Given the description of an element on the screen output the (x, y) to click on. 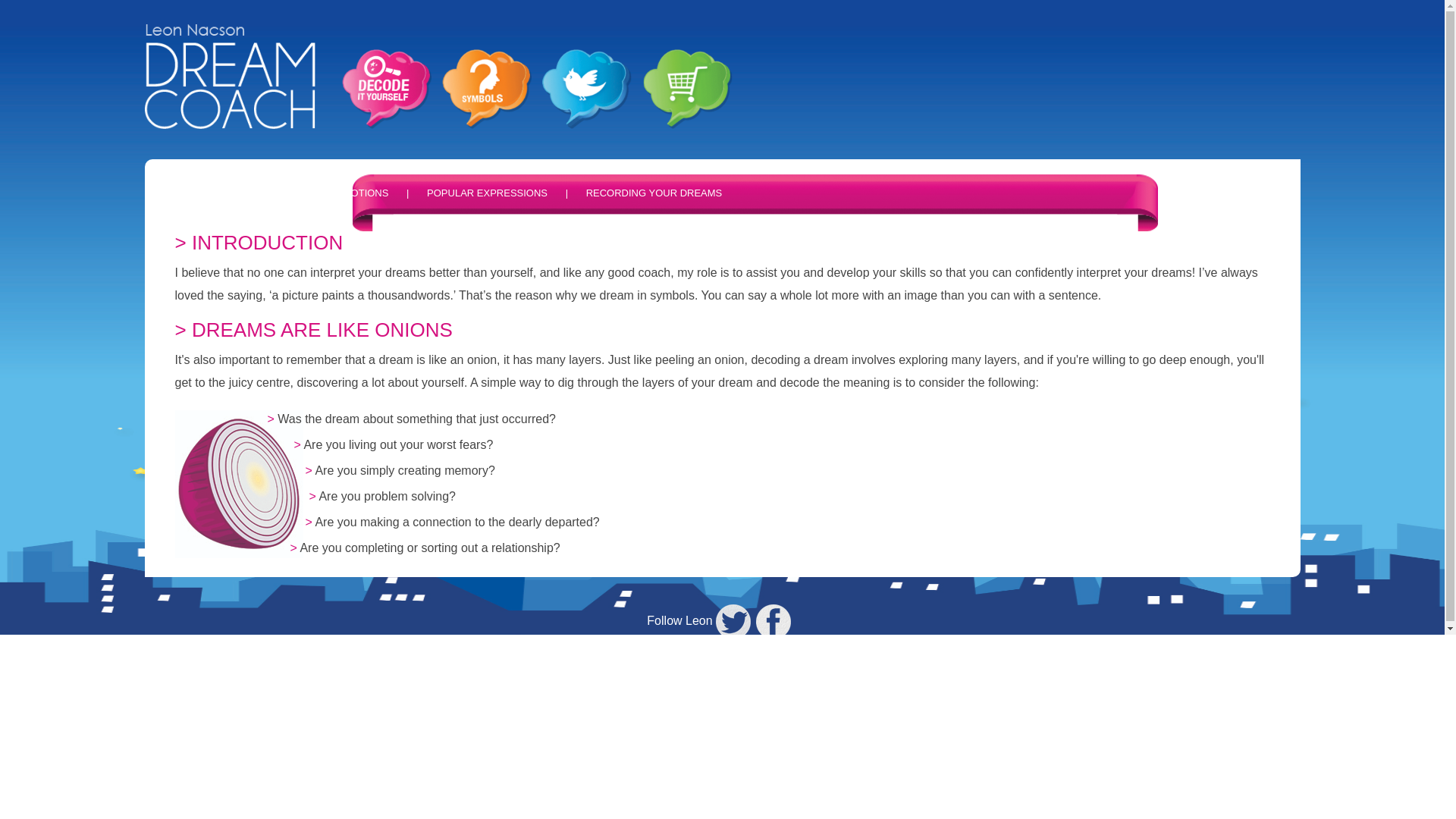
RECORDING YOUR DREAMS Element type: text (654, 192)
Fai Element type: text (776, 620)
Leon Nacson - Dream Coach Element type: hover (229, 75)
EMOTIONS Element type: text (361, 192)
POPULAR EXPRESSIONS Element type: text (486, 192)
DREAMS ARE LIKE ONIONS Element type: text (231, 192)
Tw Element type: text (734, 620)
